Given the description of an element on the screen output the (x, y) to click on. 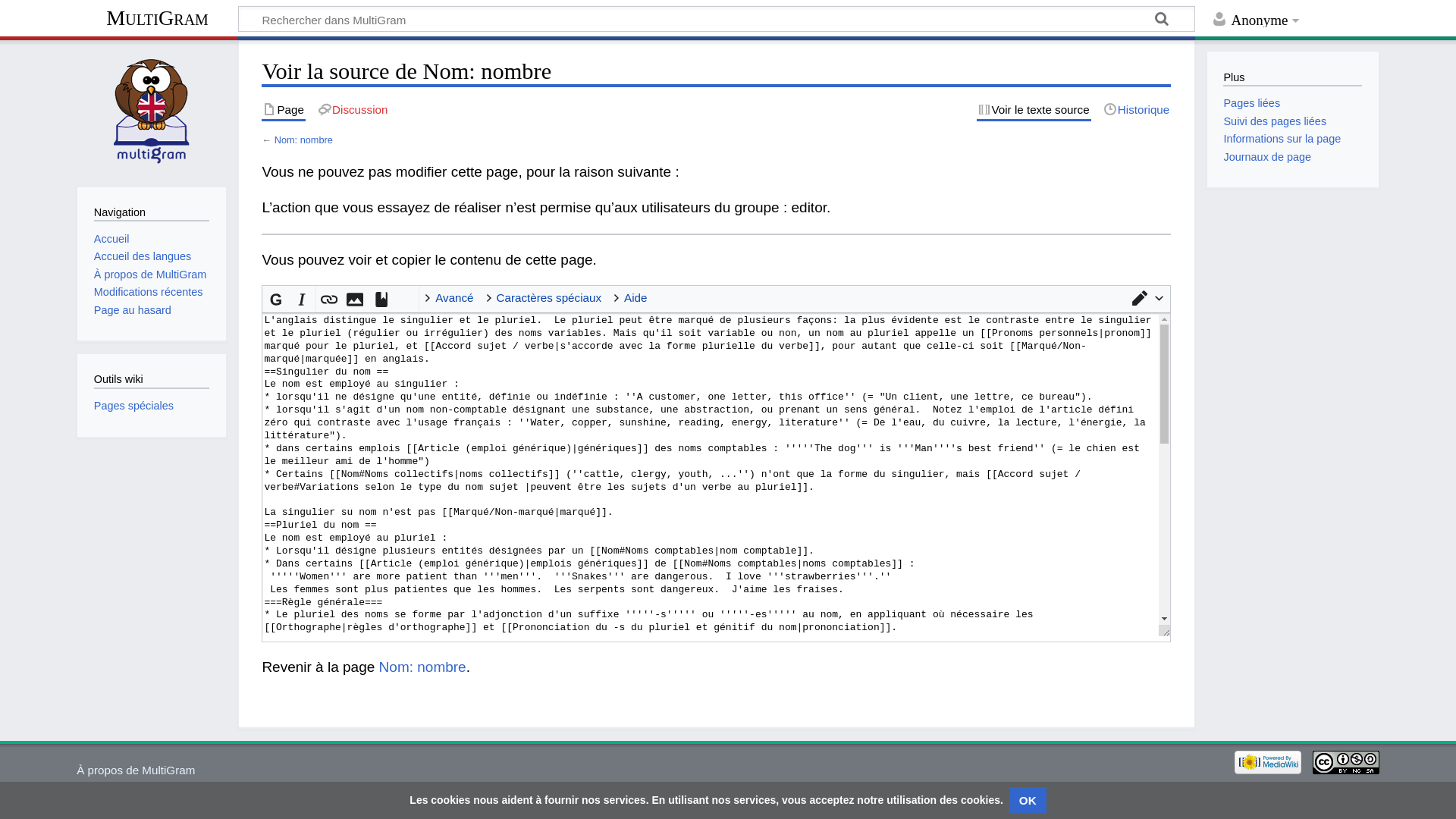
Accueil des langues Element type: text (142, 256)
InterWiki Element type: text (406, 299)
Page au hasard Element type: text (132, 310)
Rechercher dans MultiGram [alt-shift-f] Element type: hover (716, 18)
Voir le texte source Element type: text (1033, 110)
Gras Element type: hover (275, 298)
Lien Element type: hover (328, 298)
Rechercher Element type: text (1162, 20)
Accueil Element type: text (111, 238)
Page Element type: text (282, 110)
MultiGram Element type: text (157, 20)
Nom: nombre Element type: text (303, 139)
Rechercher les pages comportant ce texte. Element type: hover (1162, 20)
Nom: nombre Element type: text (422, 666)
OK Element type: text (1027, 800)
Informations sur la page Element type: text (1281, 138)
Italique Element type: hover (301, 298)
Historique Element type: text (1136, 110)
Aide Element type: text (632, 297)
Discussion Element type: text (352, 110)
Journaux de page Element type: text (1267, 156)
